Given the description of an element on the screen output the (x, y) to click on. 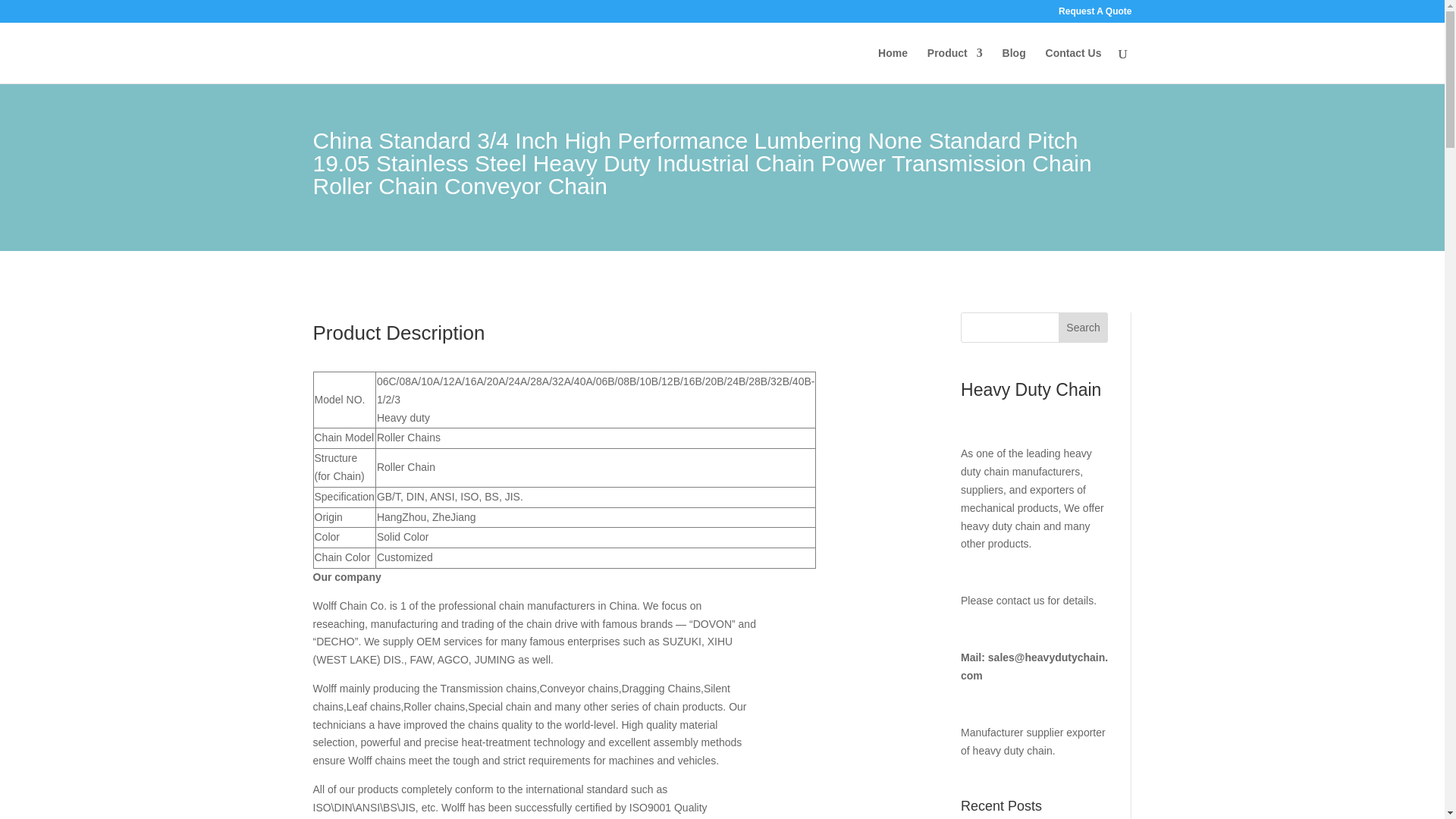
Product (954, 65)
Contact Us (1073, 65)
Search (1083, 327)
Request A Quote (1094, 14)
